Given the description of an element on the screen output the (x, y) to click on. 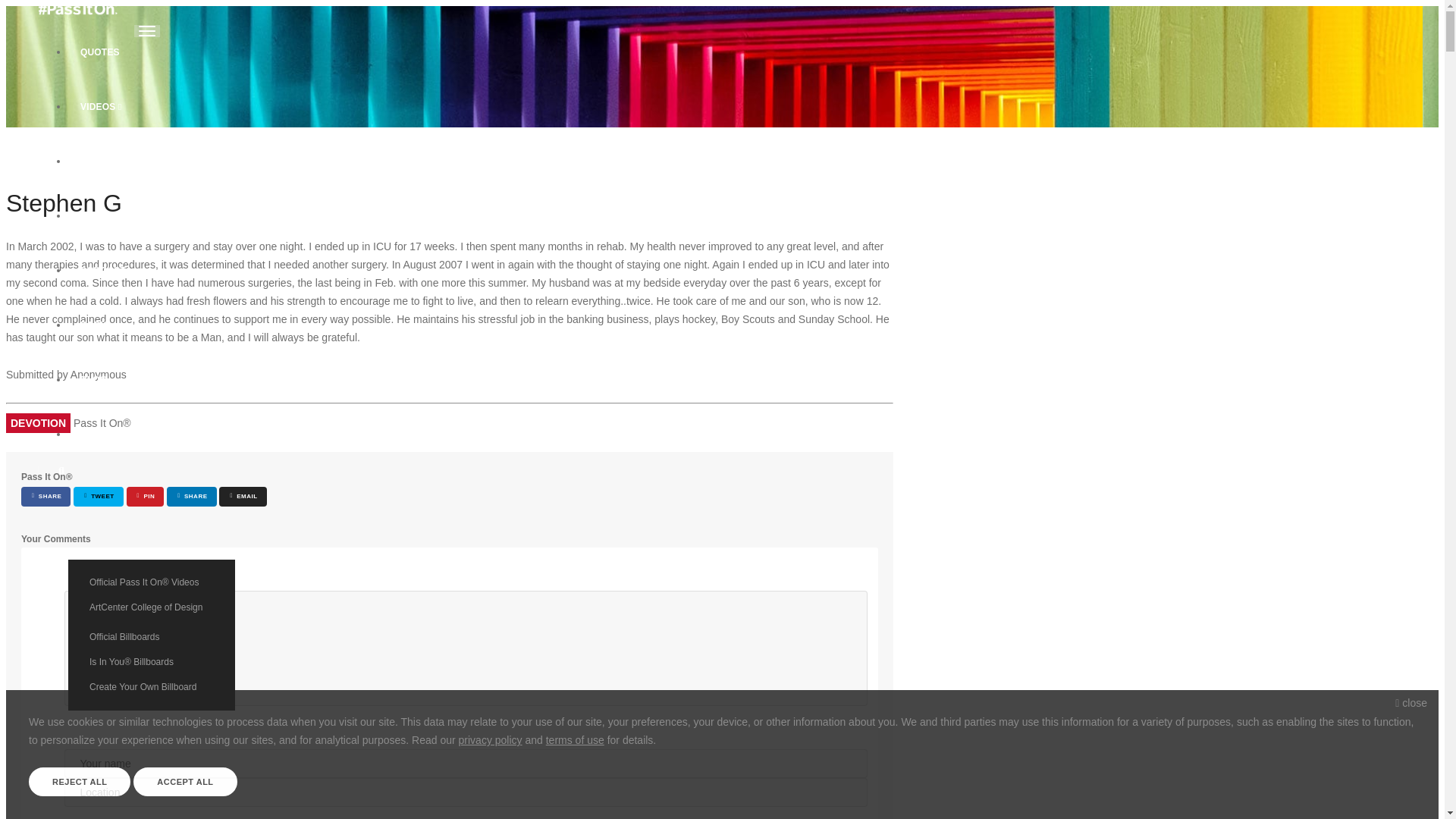
  TWEET (98, 496)
NEWSPAPERS (114, 216)
  SHARE (45, 496)
VIDEOS (114, 106)
  SHARE (191, 496)
Create Your Own Billboard (151, 686)
BLOG (114, 379)
PODCAST (114, 270)
ArtCenter College of Design PSAs (151, 613)
QUOTES (114, 52)
  PIN (145, 496)
toggle navigation (146, 30)
Official Billboards (151, 636)
  EMAIL (242, 496)
BILLBOARDS (114, 161)
